Given the description of an element on the screen output the (x, y) to click on. 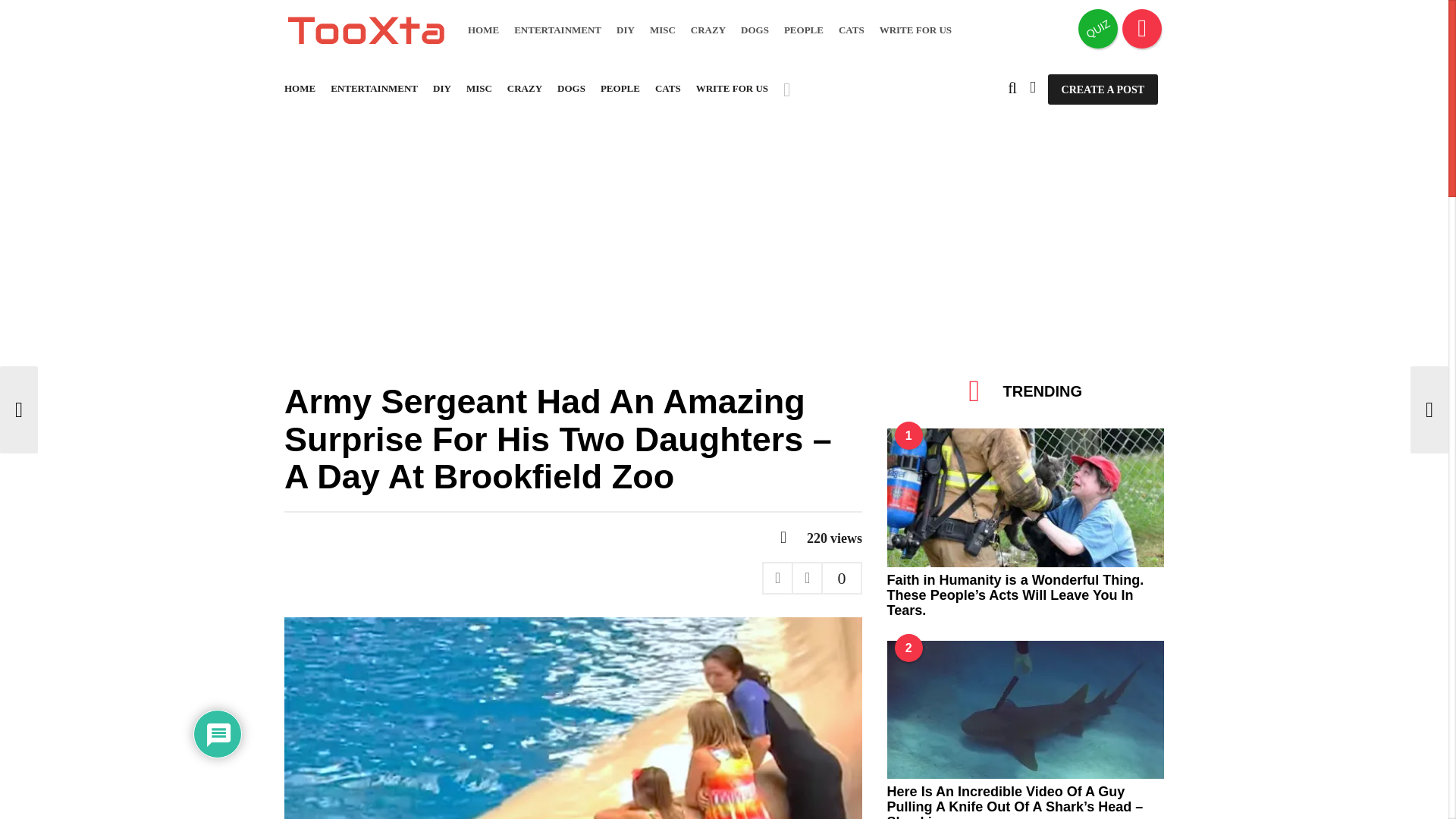
Trending (1141, 28)
HOME (483, 30)
WRITE FOR US (915, 30)
Quiz (1098, 28)
ENTERTAINMENT (557, 30)
PEOPLE (804, 30)
QUIZ (1098, 28)
DOGS (754, 30)
MISC (662, 30)
DIY (624, 30)
